Given the description of an element on the screen output the (x, y) to click on. 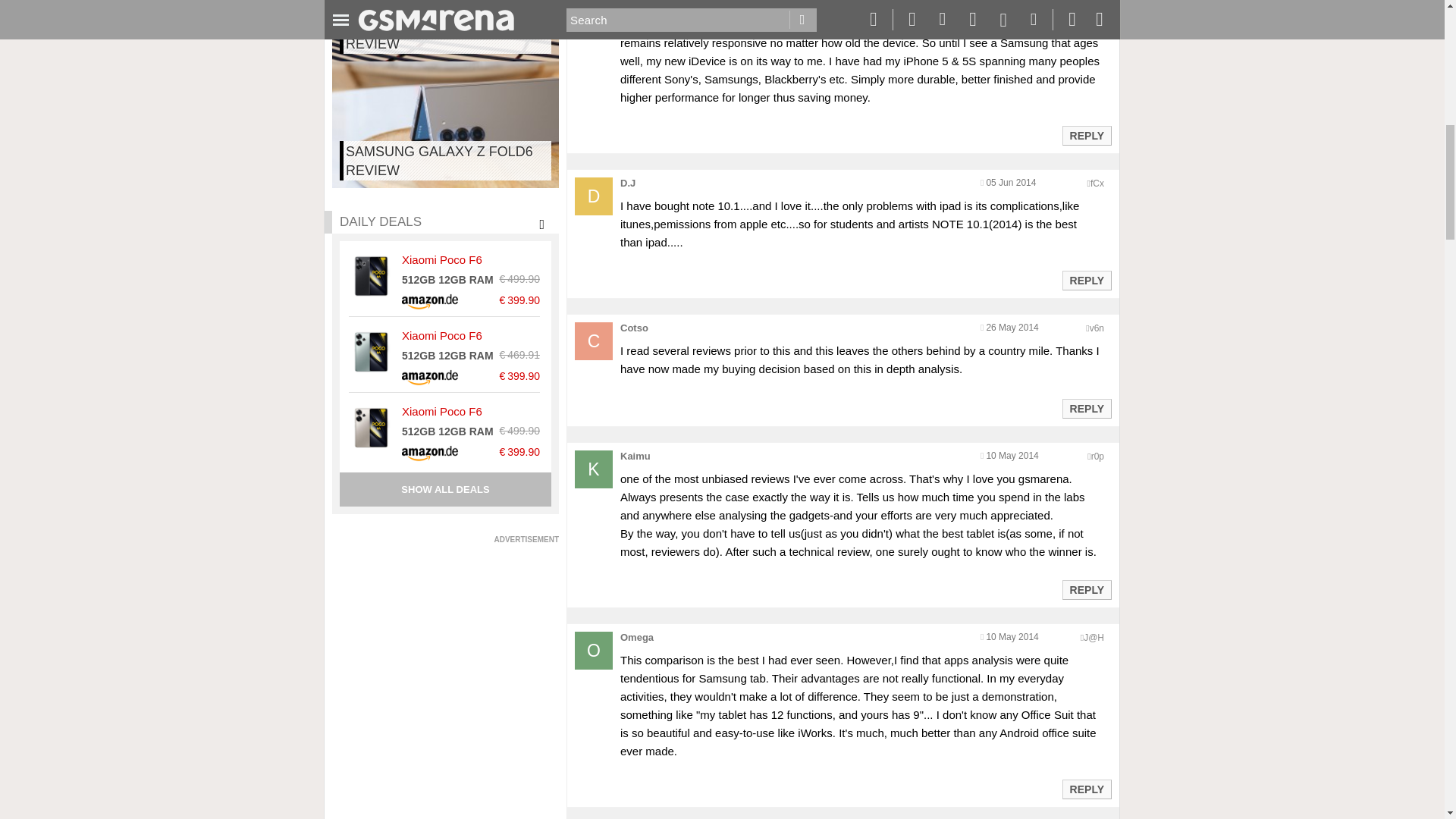
Encoded anonymized location (1096, 183)
Reply to this post (1086, 280)
Encoded anonymized location (1096, 456)
Reply to this post (1086, 135)
Encoded anonymized location (1096, 327)
Reply to this post (1086, 788)
Reply to this post (1086, 589)
Encoded anonymized location (1093, 637)
Reply to this post (1086, 408)
